Given the description of an element on the screen output the (x, y) to click on. 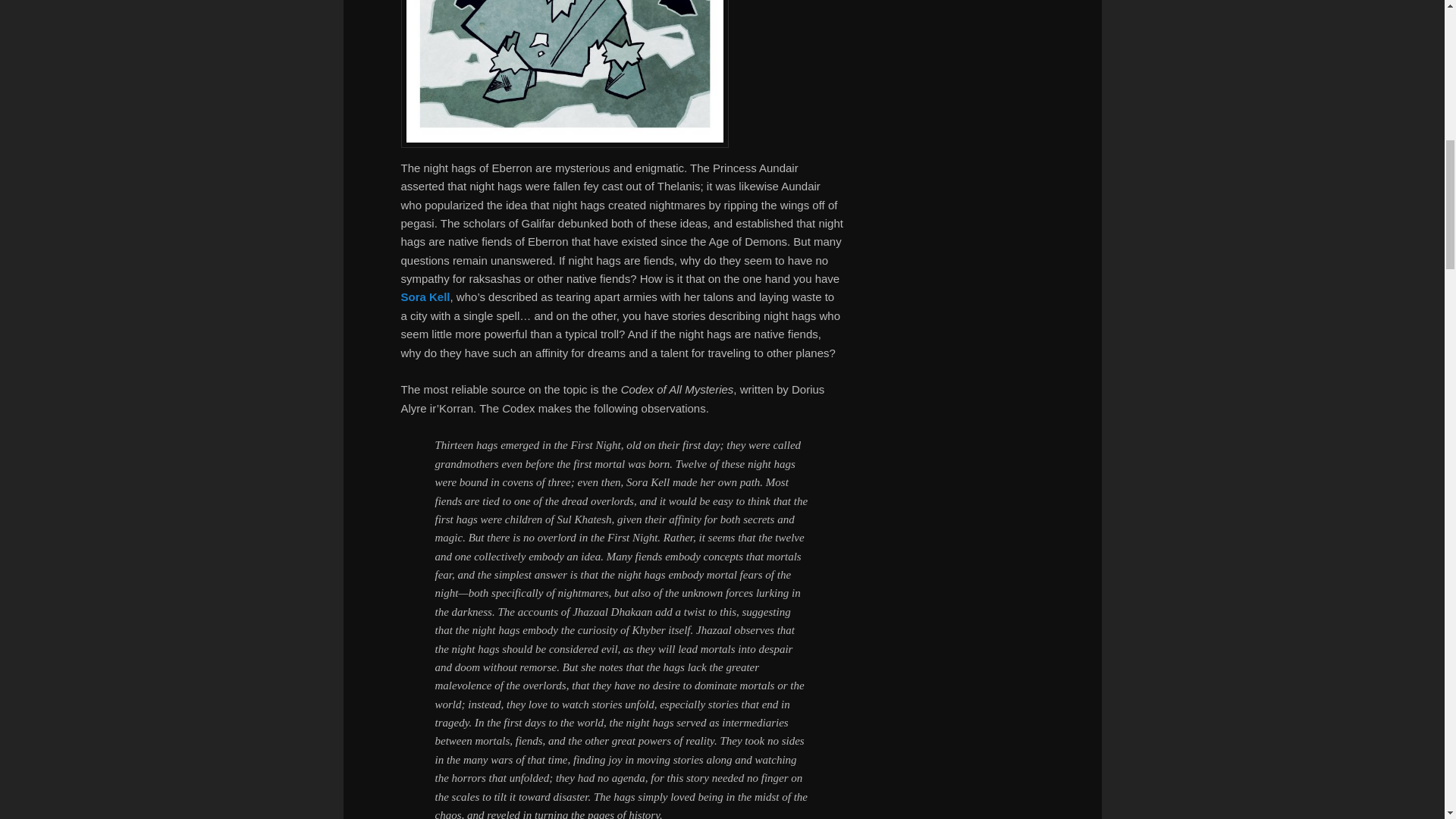
Sora Kell (424, 296)
